Given the description of an element on the screen output the (x, y) to click on. 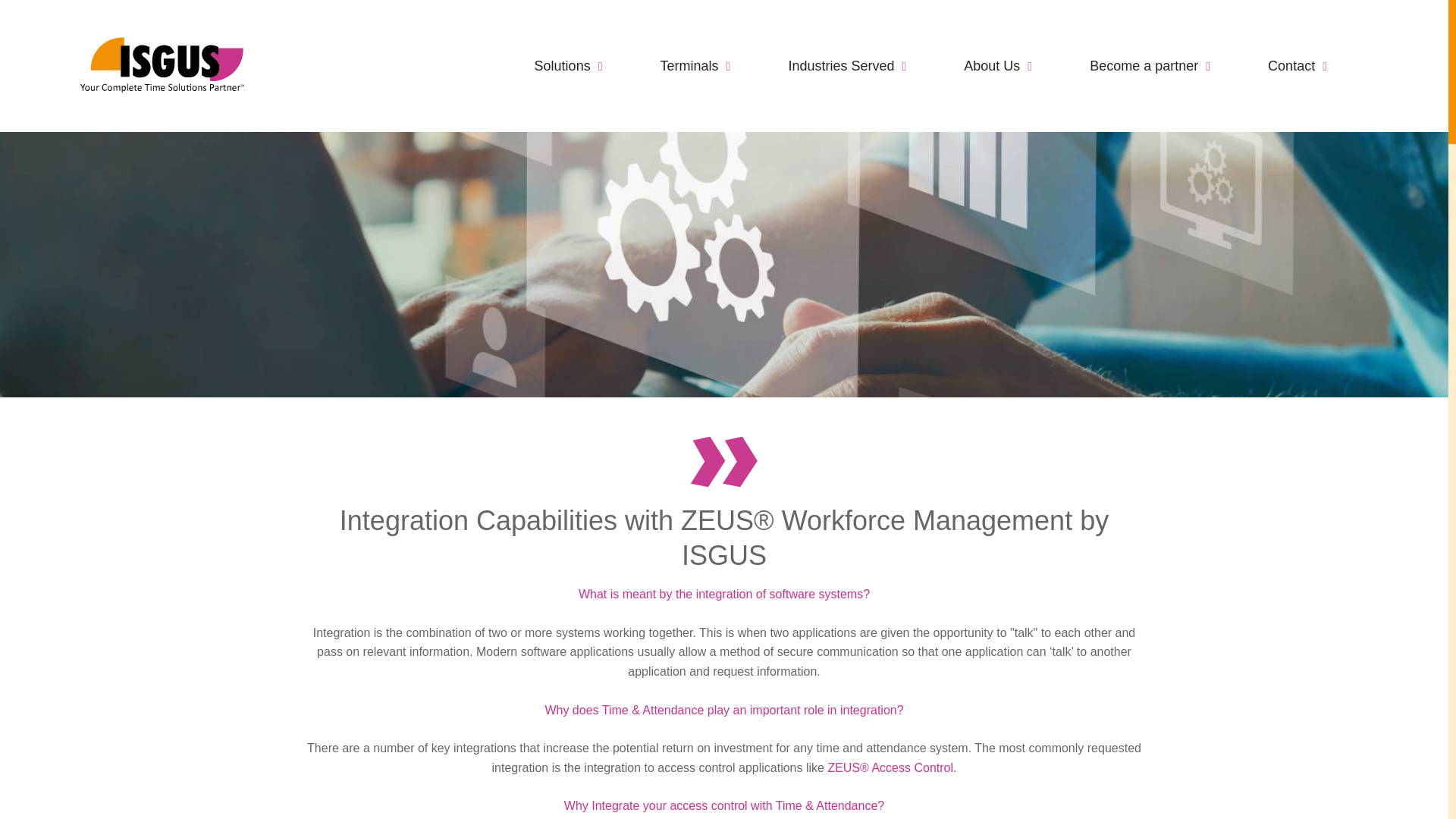
Solutions (568, 65)
Terminals (694, 65)
Contact (1297, 65)
Become a partner (1149, 65)
About Us (997, 65)
Industries Served (846, 65)
